Given the description of an element on the screen output the (x, y) to click on. 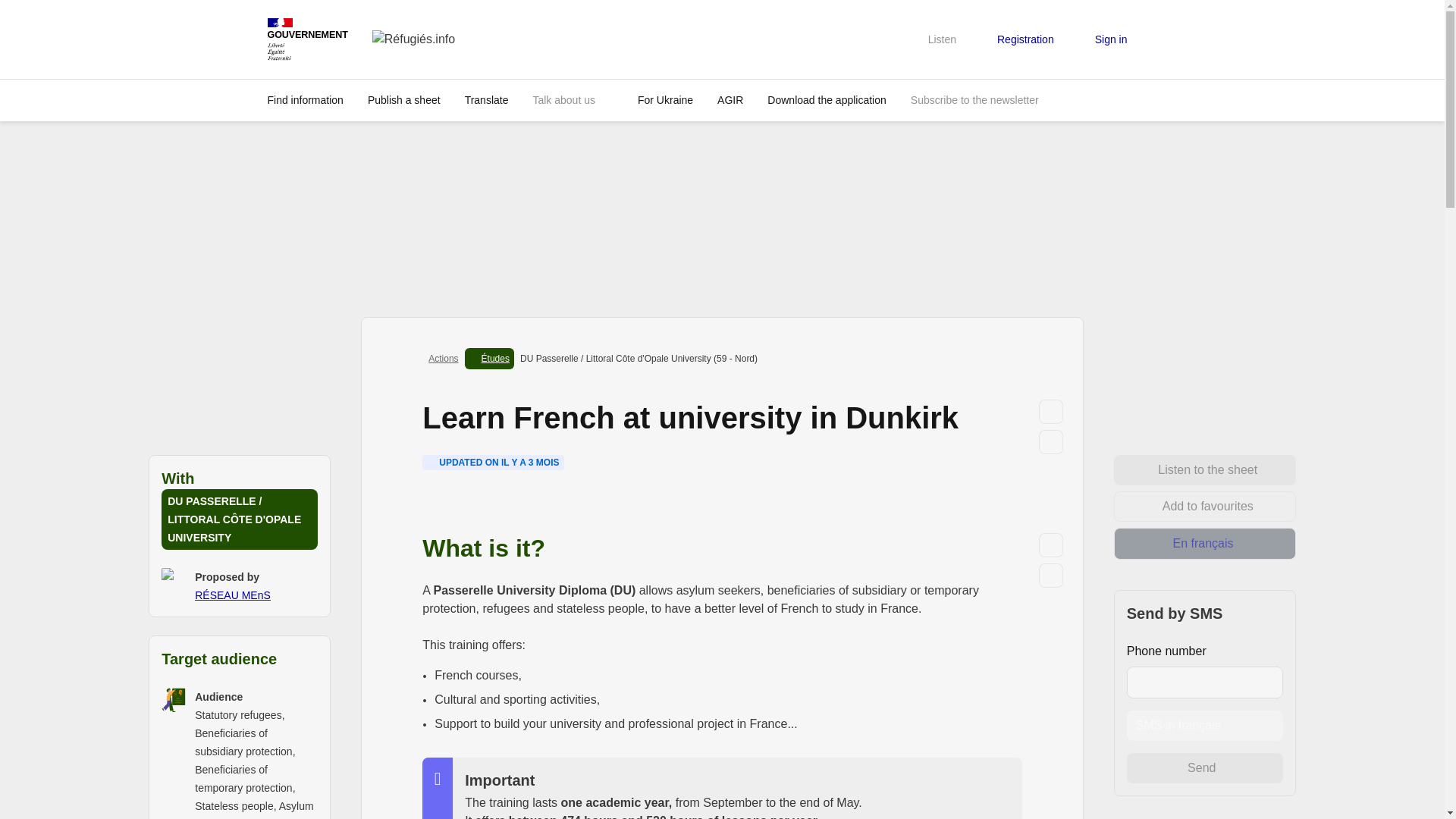
AGIR (729, 99)
Registration (1016, 39)
React (1050, 574)
Download the application (826, 99)
Publish a sheet (403, 99)
Actions (443, 357)
Listen (1050, 544)
Listen (933, 39)
Find information (304, 99)
Listen (1050, 410)
GOUVERNEMENT (306, 38)
Translate (486, 99)
Talk about us (572, 99)
For Ukraine (665, 99)
Subscribe to the newsletter (974, 99)
